Given the description of an element on the screen output the (x, y) to click on. 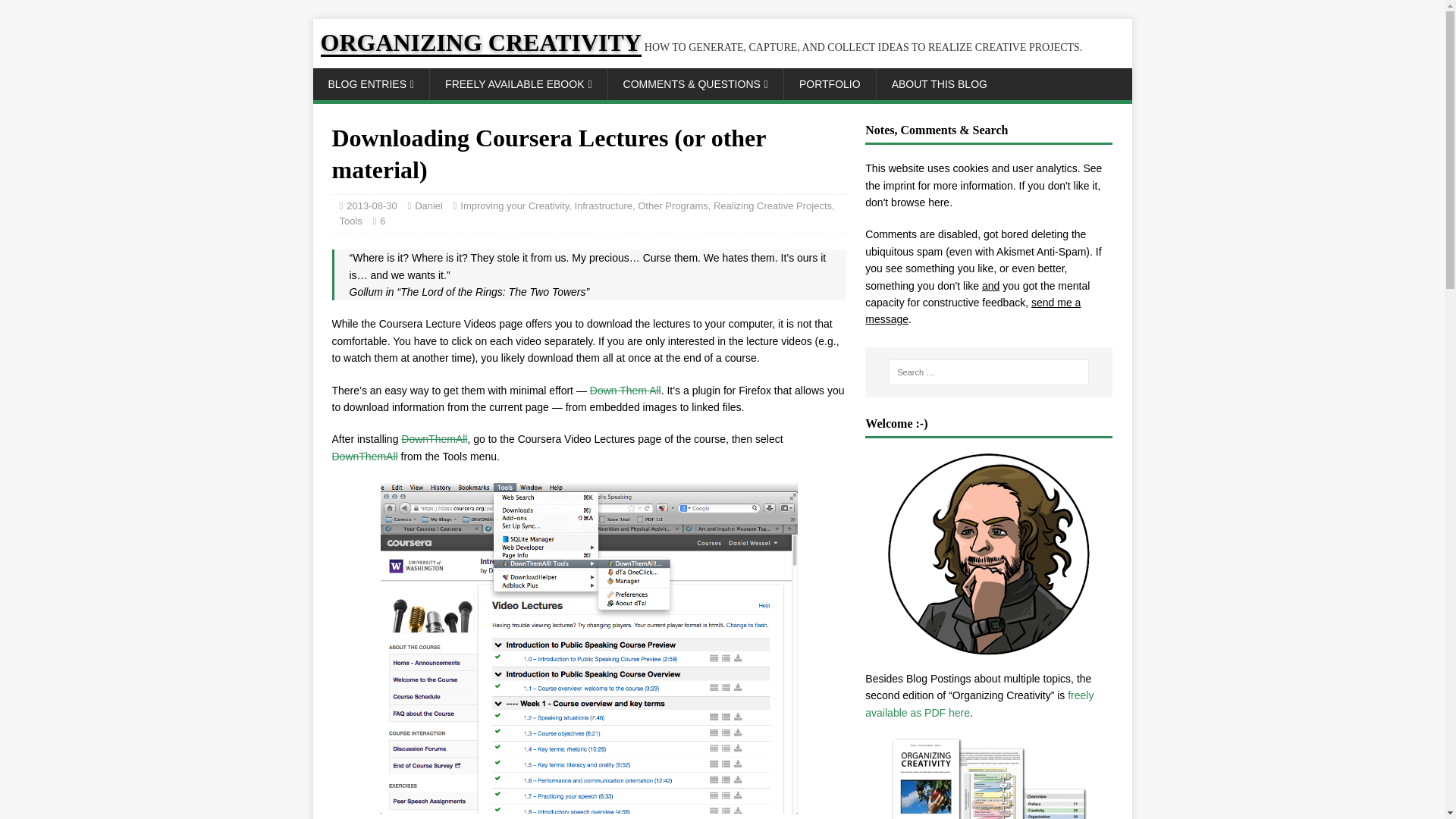
FREELY AVAILABLE EBOOK (518, 83)
BLOG ENTRIES (371, 83)
Other Programs (672, 205)
6 (382, 220)
Daniel (428, 205)
Tools (350, 220)
Infrastructure (602, 205)
Realizing Creative Projects (772, 205)
DownThemAll (434, 439)
6 (382, 220)
2013-08-30 (371, 205)
Improving your Creativity (514, 205)
ORGANIZING CREATIVITY (700, 46)
ABOUT THIS BLOG (939, 83)
